Given the description of an element on the screen output the (x, y) to click on. 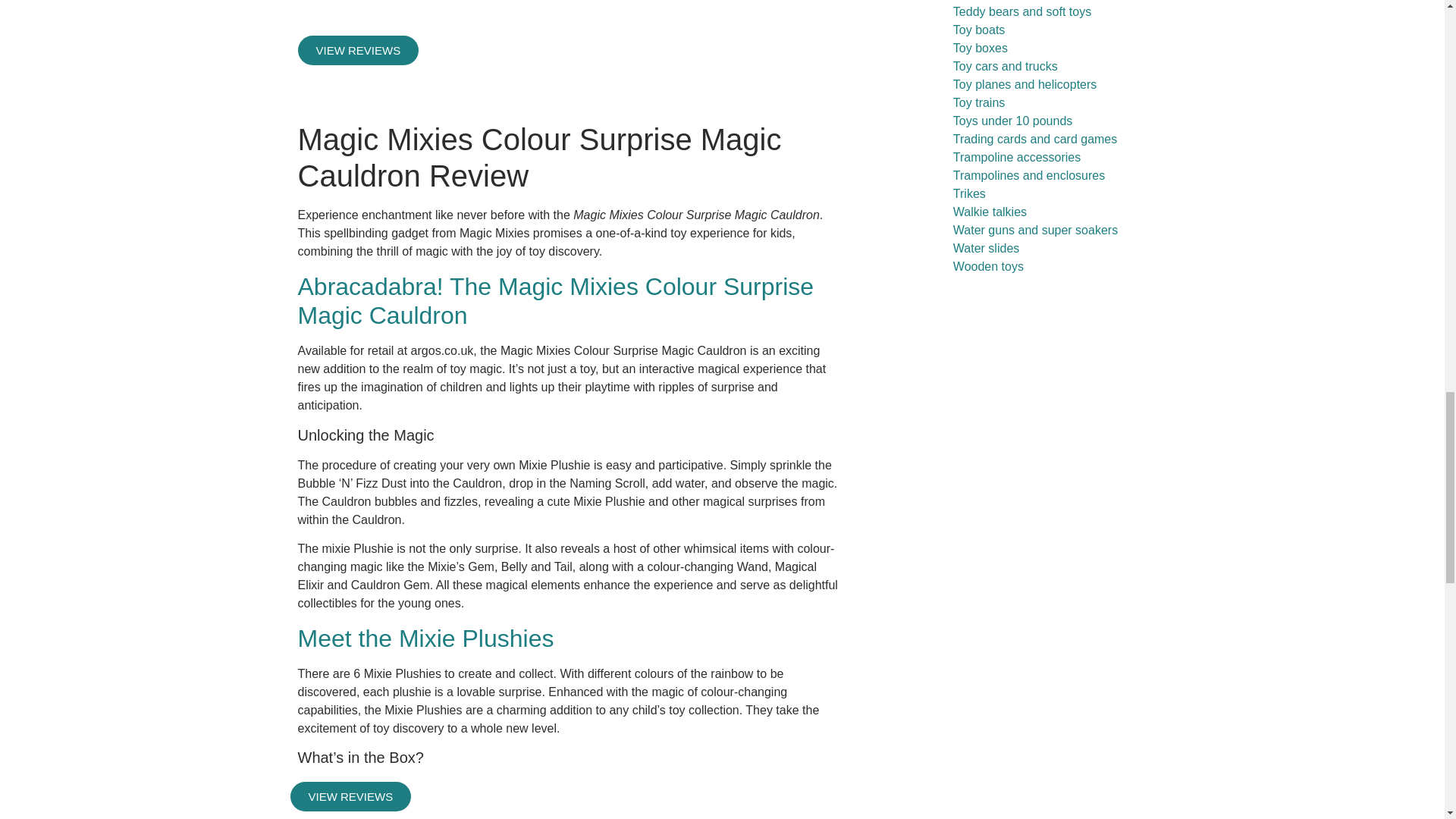
VIEW REVIEWS (358, 50)
